Given the description of an element on the screen output the (x, y) to click on. 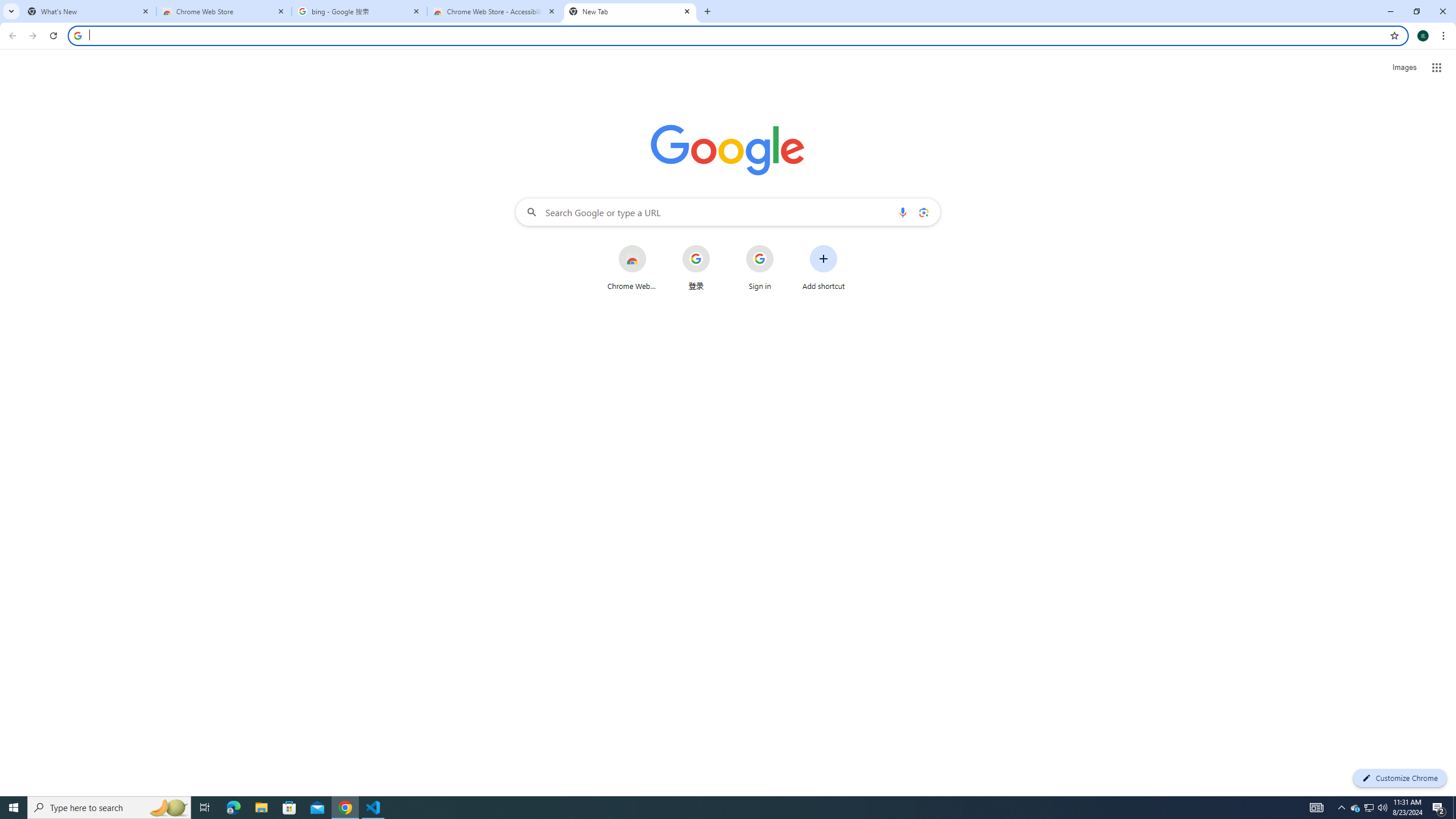
Search for Images  (1403, 67)
Search by voice (902, 212)
Search icon (77, 35)
Chrome Web Store (224, 11)
More actions for Chrome Web Store shortcut (654, 245)
Search by image (922, 212)
Search Google or type a URL (727, 212)
